Given the description of an element on the screen output the (x, y) to click on. 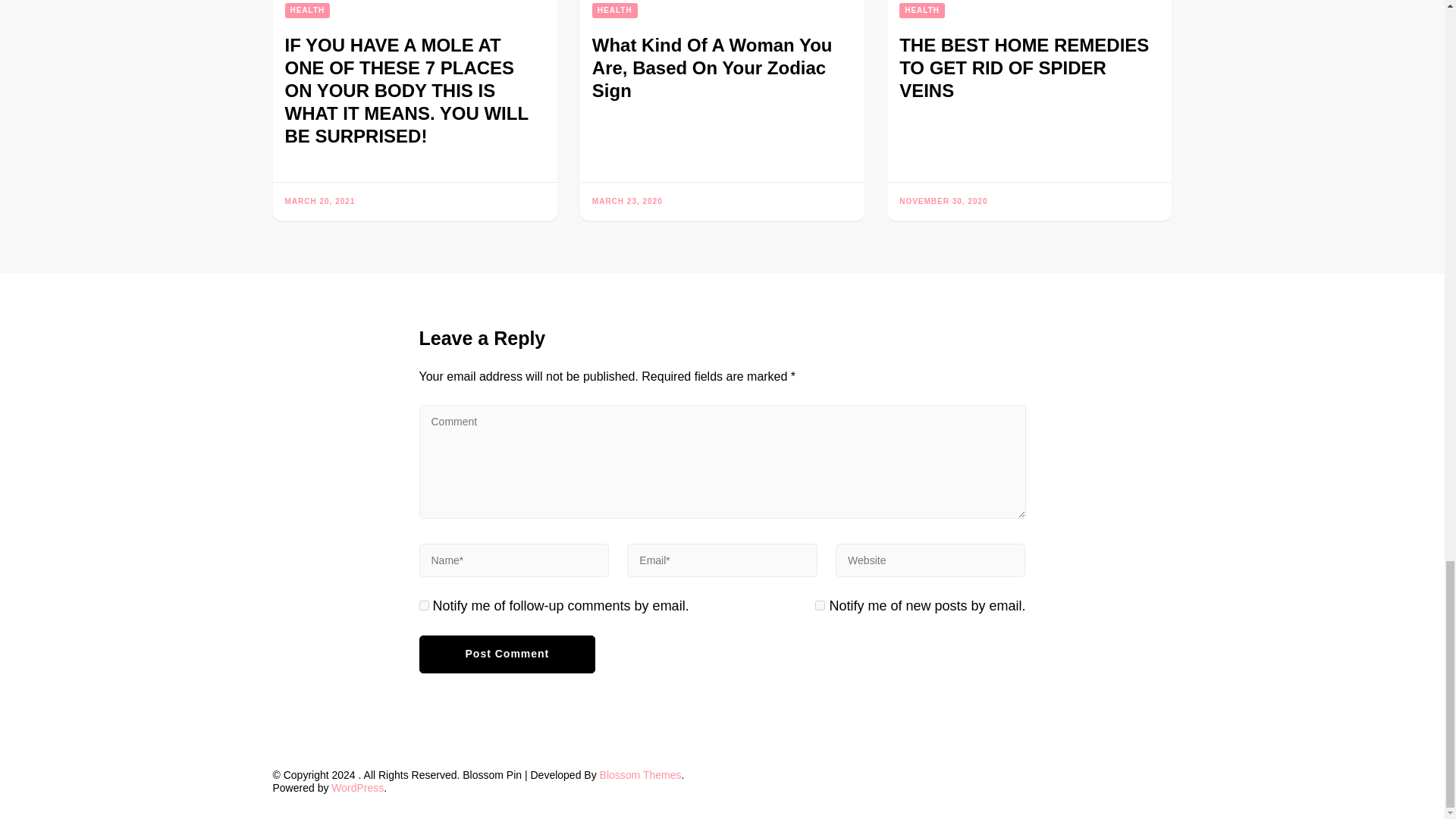
Blossom Themes (640, 775)
MARCH 23, 2020 (627, 201)
Post Comment (507, 654)
HEALTH (307, 10)
What Kind Of A Woman You Are, Based On Your Zodiac Sign (712, 67)
Post Comment (507, 654)
subscribe (820, 605)
HEALTH (921, 10)
MARCH 20, 2021 (320, 201)
subscribe (423, 605)
